Given the description of an element on the screen output the (x, y) to click on. 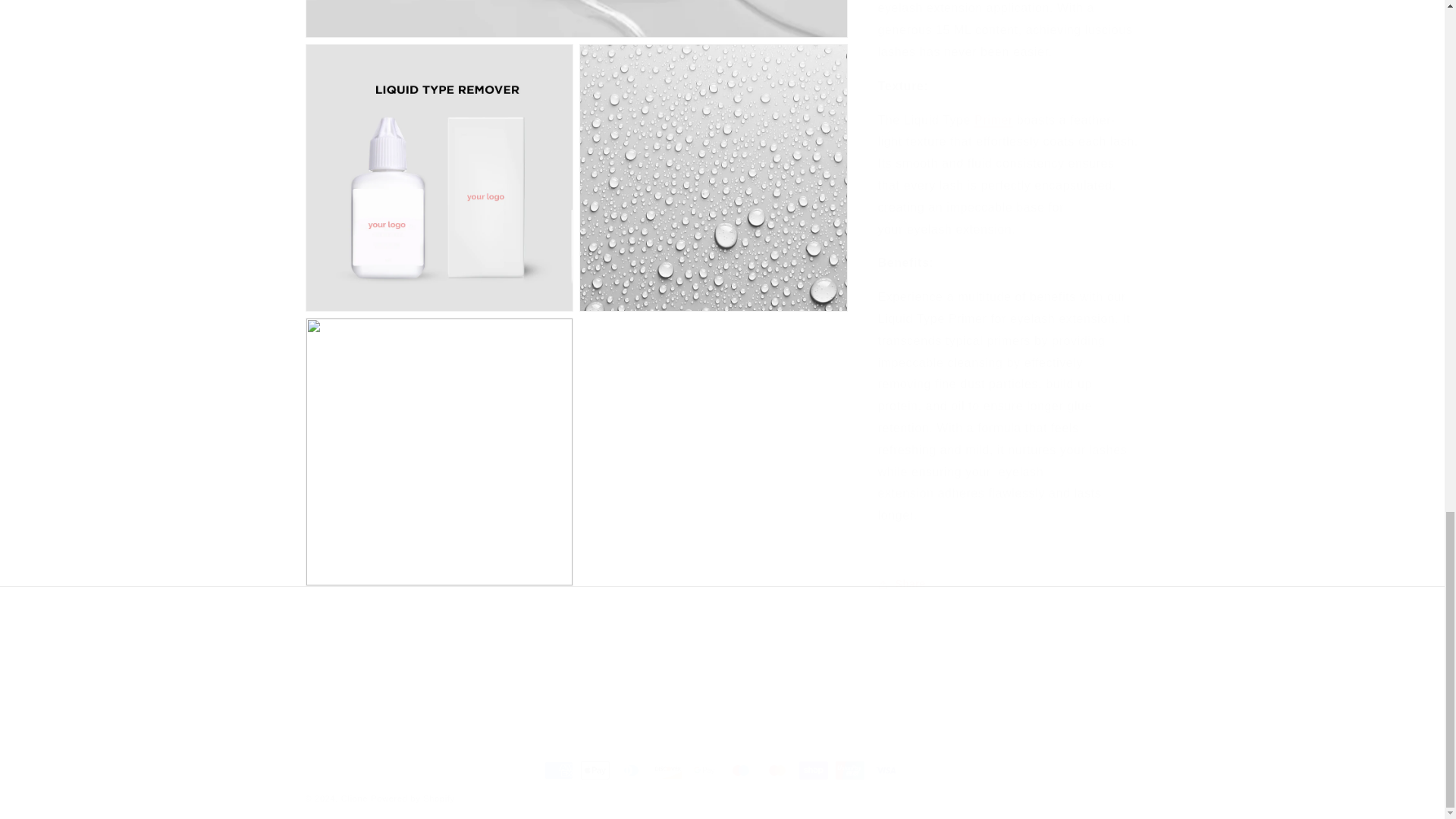
pure-primer (721, 659)
